Given the description of an element on the screen output the (x, y) to click on. 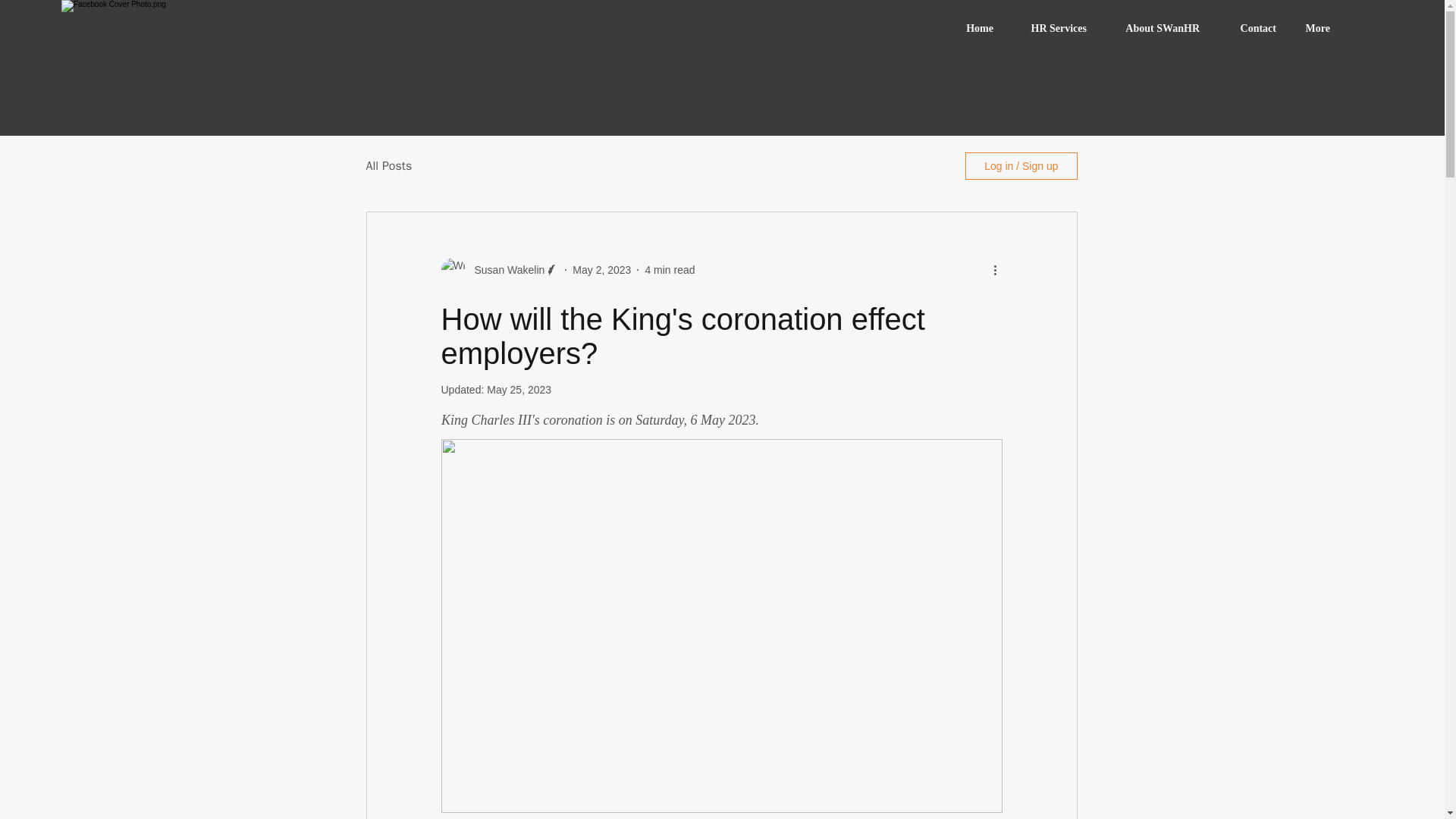
Contact (1249, 28)
About SWanHR (1154, 28)
May 2, 2023 (601, 269)
Susan Wakelin (504, 270)
May 25, 2023 (518, 389)
4 min read (669, 269)
All Posts (388, 165)
Home (975, 28)
HR Services (1050, 28)
